Given the description of an element on the screen output the (x, y) to click on. 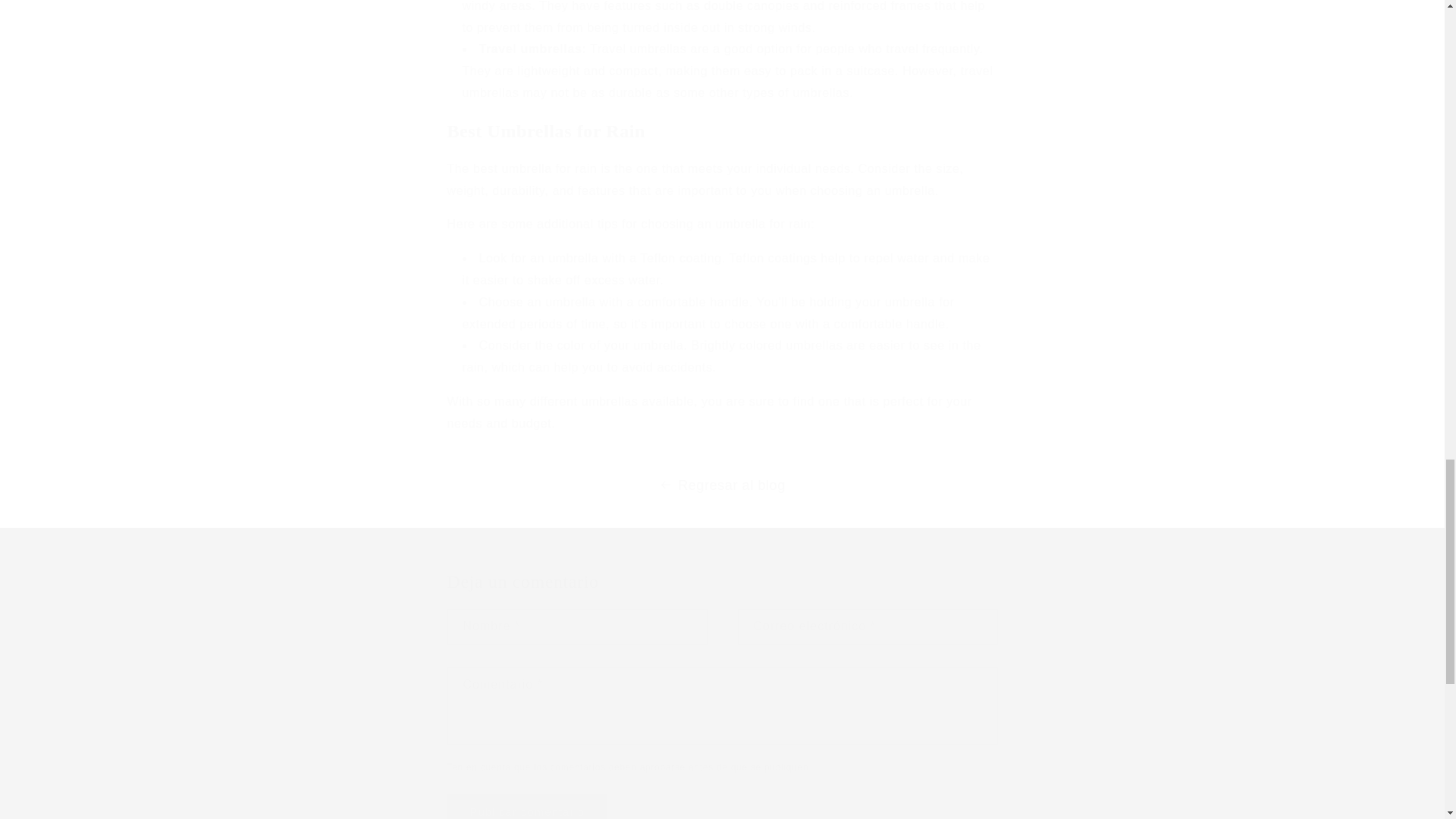
Publicar comentario (527, 806)
